Given the description of an element on the screen output the (x, y) to click on. 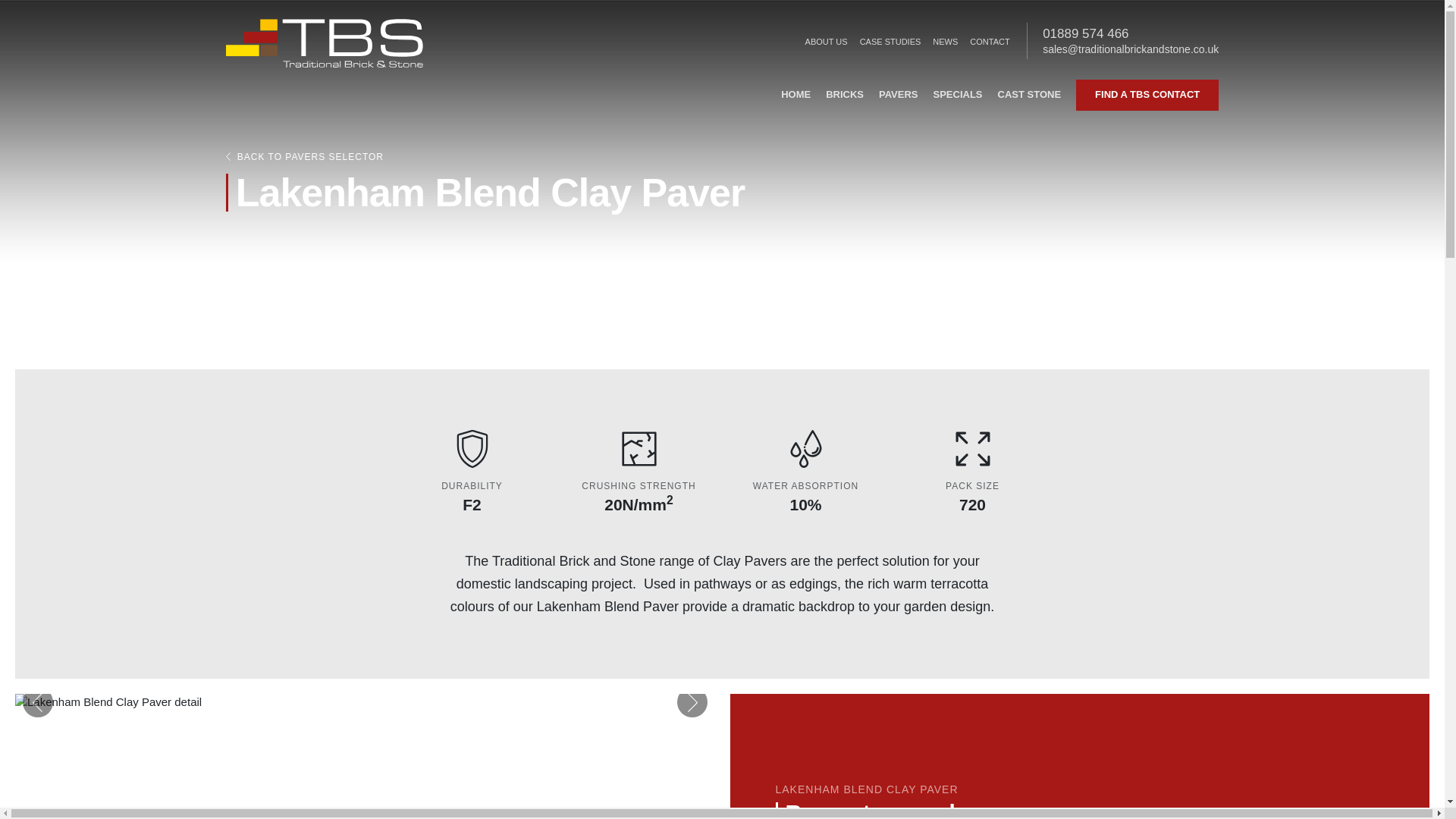
CASE STUDIES (890, 42)
SPECIALS (957, 94)
PAVERS (898, 94)
01889 574 466 (1130, 33)
BACK TO PAVERS SELECTOR (722, 162)
CAST STONE (1029, 94)
HOME (795, 94)
FIND A TBS CONTACT (1146, 94)
ABOUT US (826, 42)
CONTACT (988, 42)
